Given the description of an element on the screen output the (x, y) to click on. 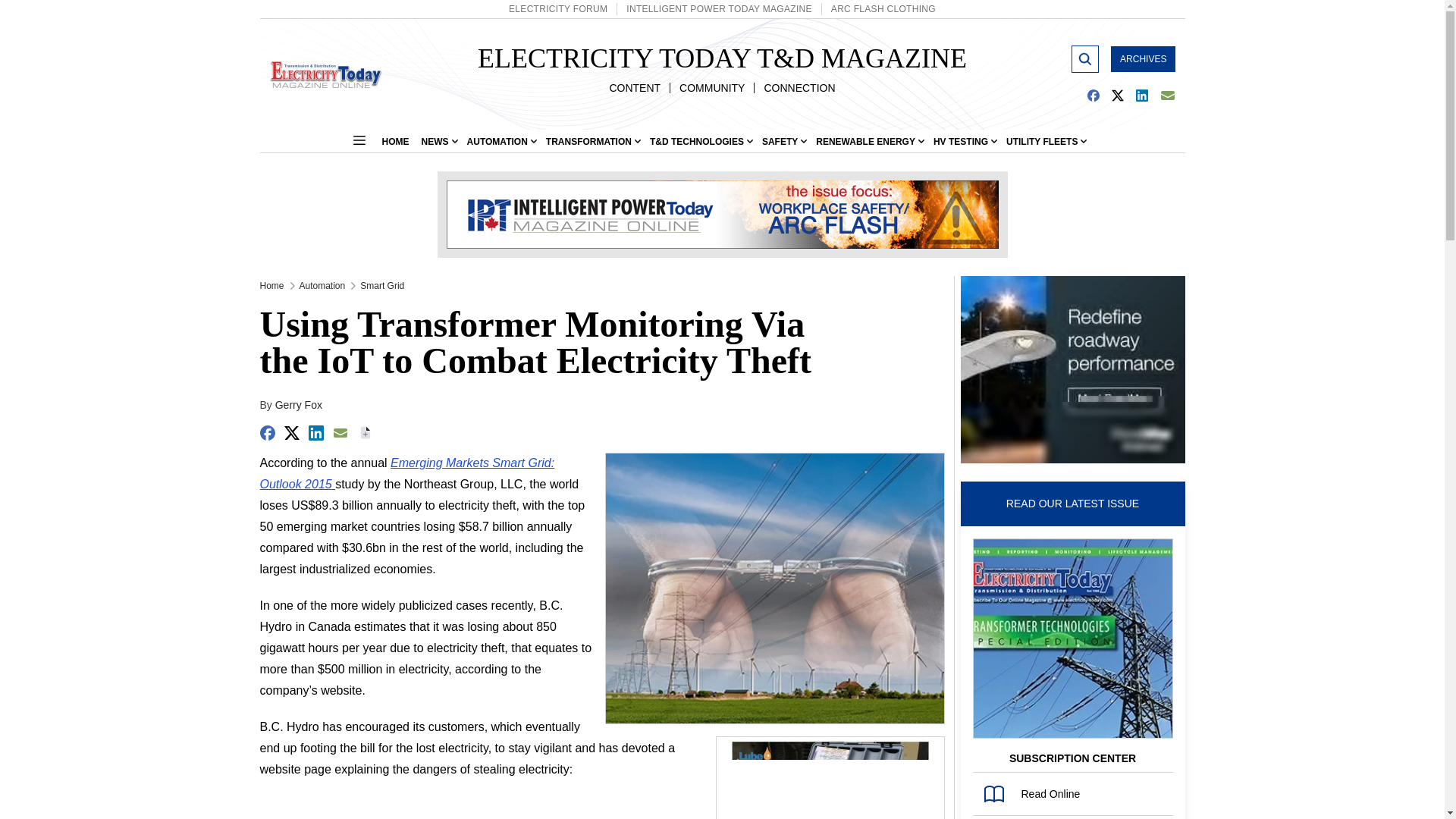
ELECTRICITY FORUM (557, 9)
INTELLIGENT POWER TODAY MAGAZINE (718, 9)
ARC FLASH CLOTHING (882, 9)
